Given the description of an element on the screen output the (x, y) to click on. 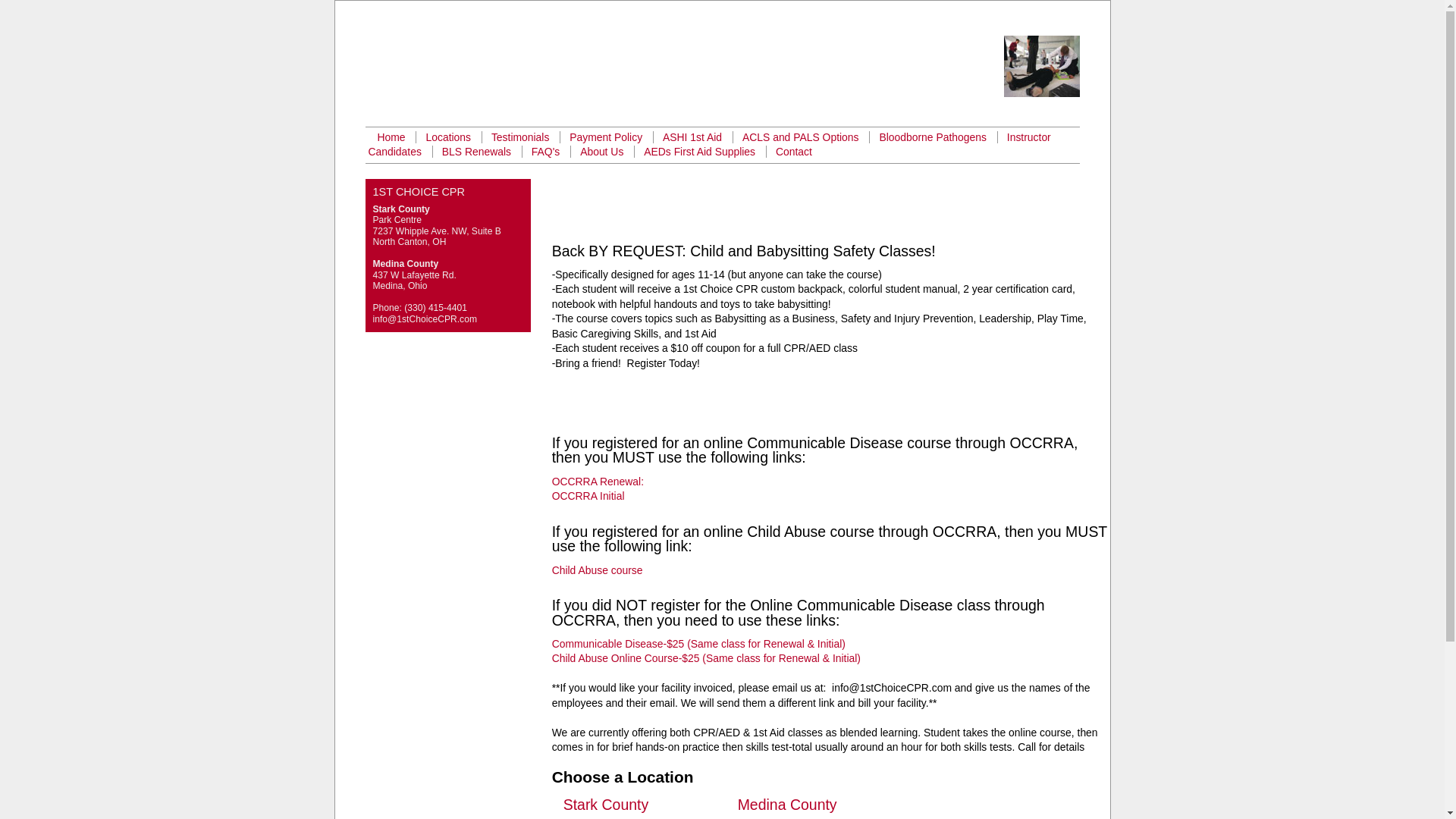
Home Element type: text (391, 137)
1st Choice CPR Element type: text (543, 77)
Contact Element type: text (793, 151)
OCCRRA Initial Element type: text (588, 495)
OCCRRA Renewal: Element type: text (597, 481)
Communicable Disease-$25 (Same class for Renewal & Initial) Element type: text (698, 643)
BLS Renewals Element type: text (476, 151)
ASHI 1st Aid Element type: text (691, 137)
Instructor Candidates Element type: text (709, 144)
About Us Element type: text (601, 151)
Child Abuse course Element type: text (597, 570)
Payment Policy Element type: text (605, 137)
ACLS and PALS Options Element type: text (800, 137)
Medina County Element type: text (787, 804)
Locations Element type: text (447, 137)
Stark County Element type: text (606, 804)
AEDs First Aid Supplies Element type: text (699, 151)
FAQ's Element type: text (545, 151)
Testimonials Element type: text (520, 137)
Bloodborne Pathogens Element type: text (932, 137)
